Given the description of an element on the screen output the (x, y) to click on. 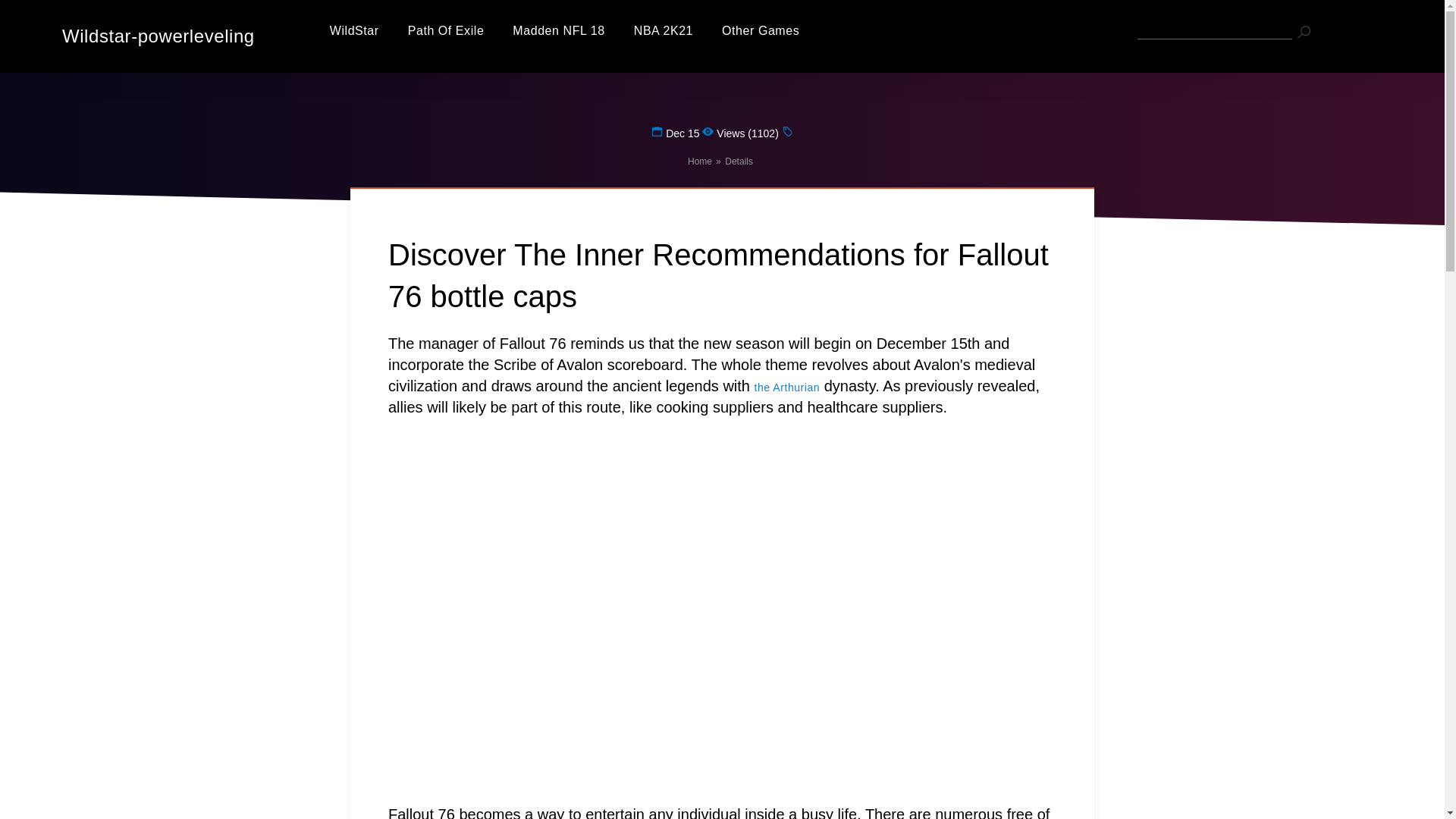
the Arthurian (787, 387)
Game News (760, 30)
Home (699, 161)
WildStar (354, 30)
the Arthurian (787, 387)
Path Of Exile (445, 30)
Wildstar-powerleveling (150, 36)
Madden NFL 18 (558, 30)
Other Games (760, 30)
NBA 2K21 (663, 30)
